Given the description of an element on the screen output the (x, y) to click on. 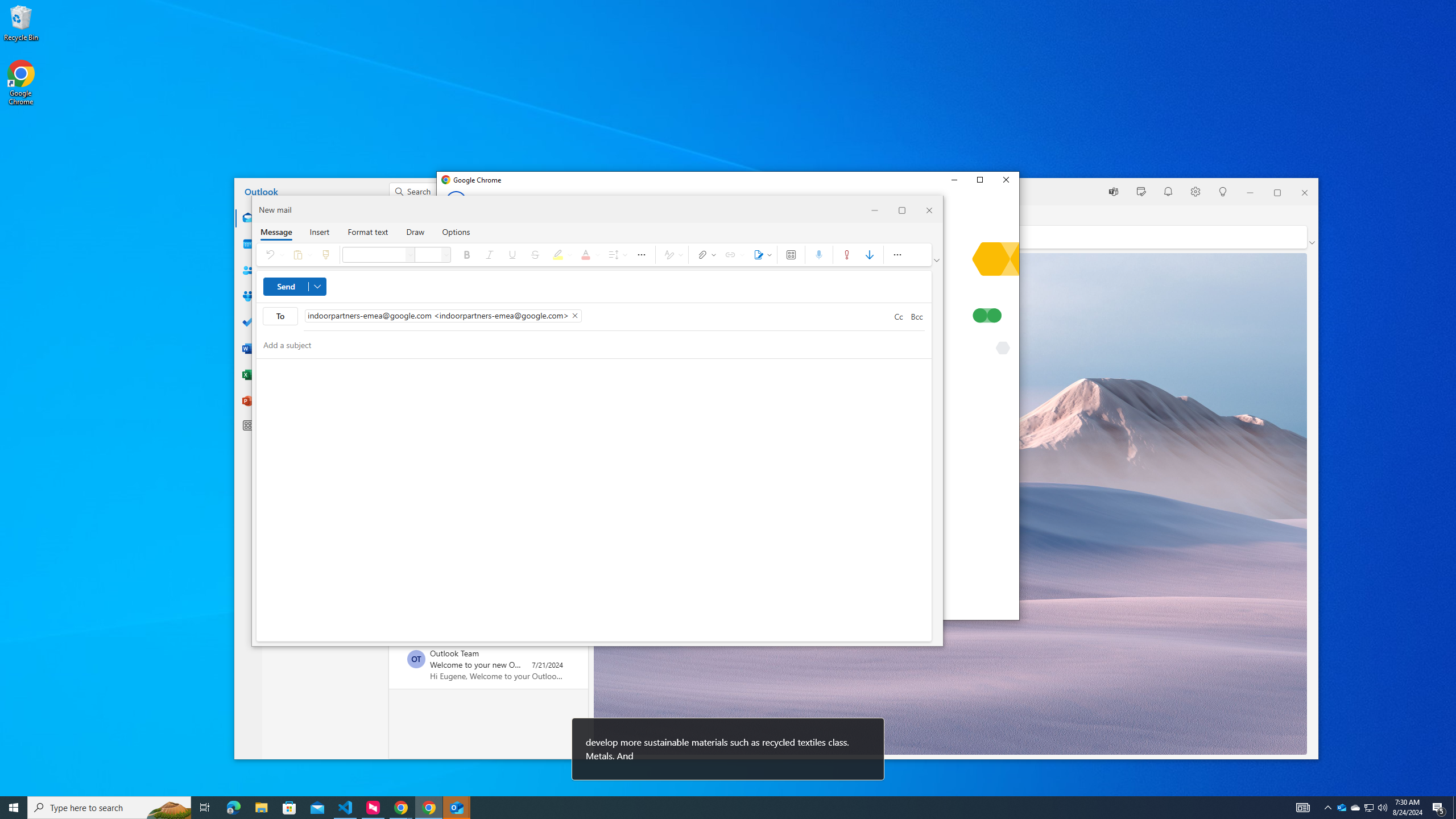
Action Center, 5 new notifications (1439, 807)
Google Chrome - 3 running windows (400, 807)
Maximize (979, 180)
Outlook (new) - 2 running windows (456, 807)
Running applications (1368, 807)
Microsoft Outlook (710, 807)
Start (1341, 807)
Type here to search (13, 807)
Google Chrome - 1 running window (108, 807)
Notification Chevron (428, 807)
